Given the description of an element on the screen output the (x, y) to click on. 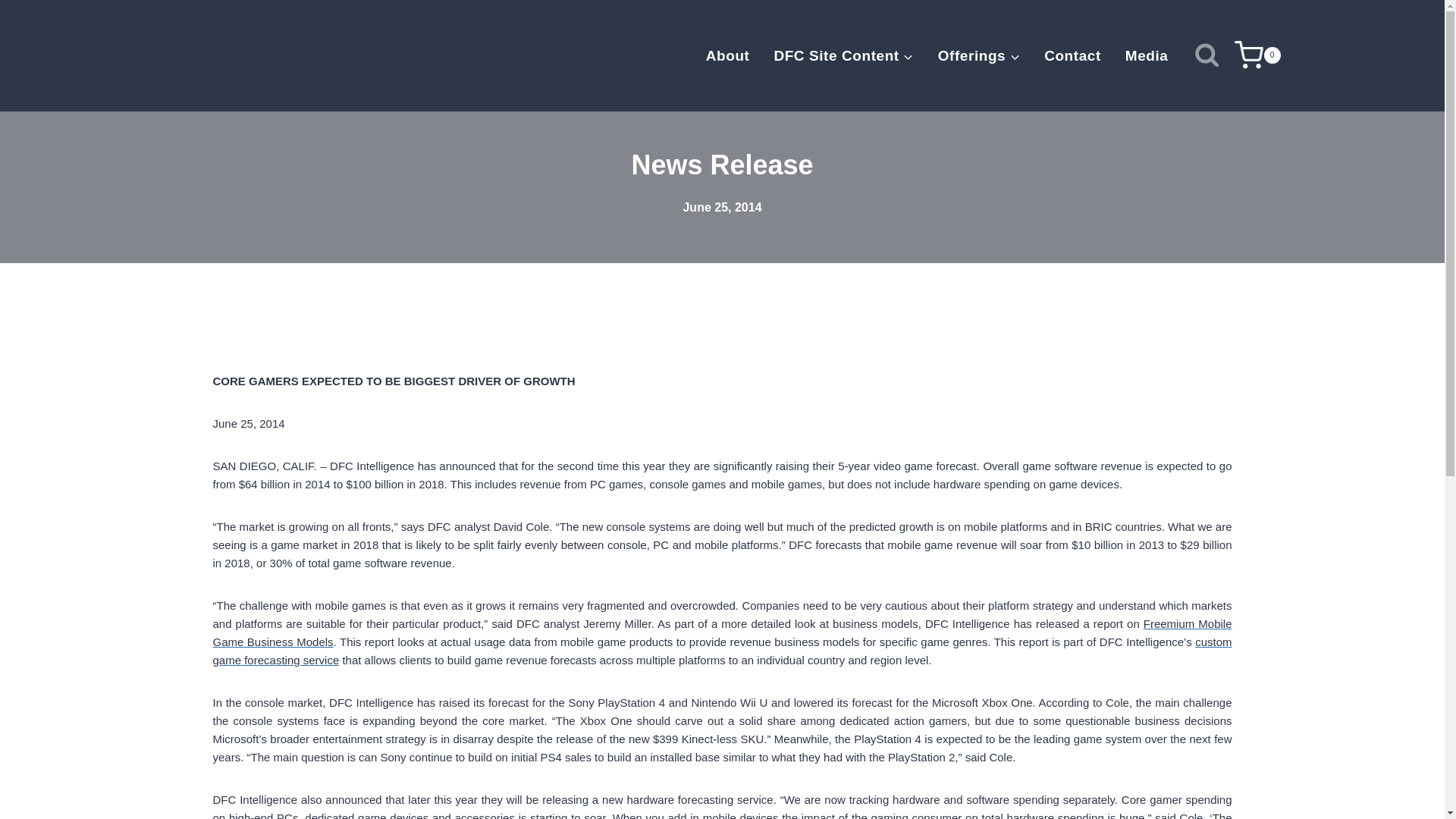
DFC Site Content (842, 55)
Offerings (979, 55)
0 (1257, 55)
custom game forecasting service (721, 650)
About (727, 55)
Contact (1072, 55)
Freemium Mobile Game Business Models (721, 632)
Media (1146, 55)
